Given the description of an element on the screen output the (x, y) to click on. 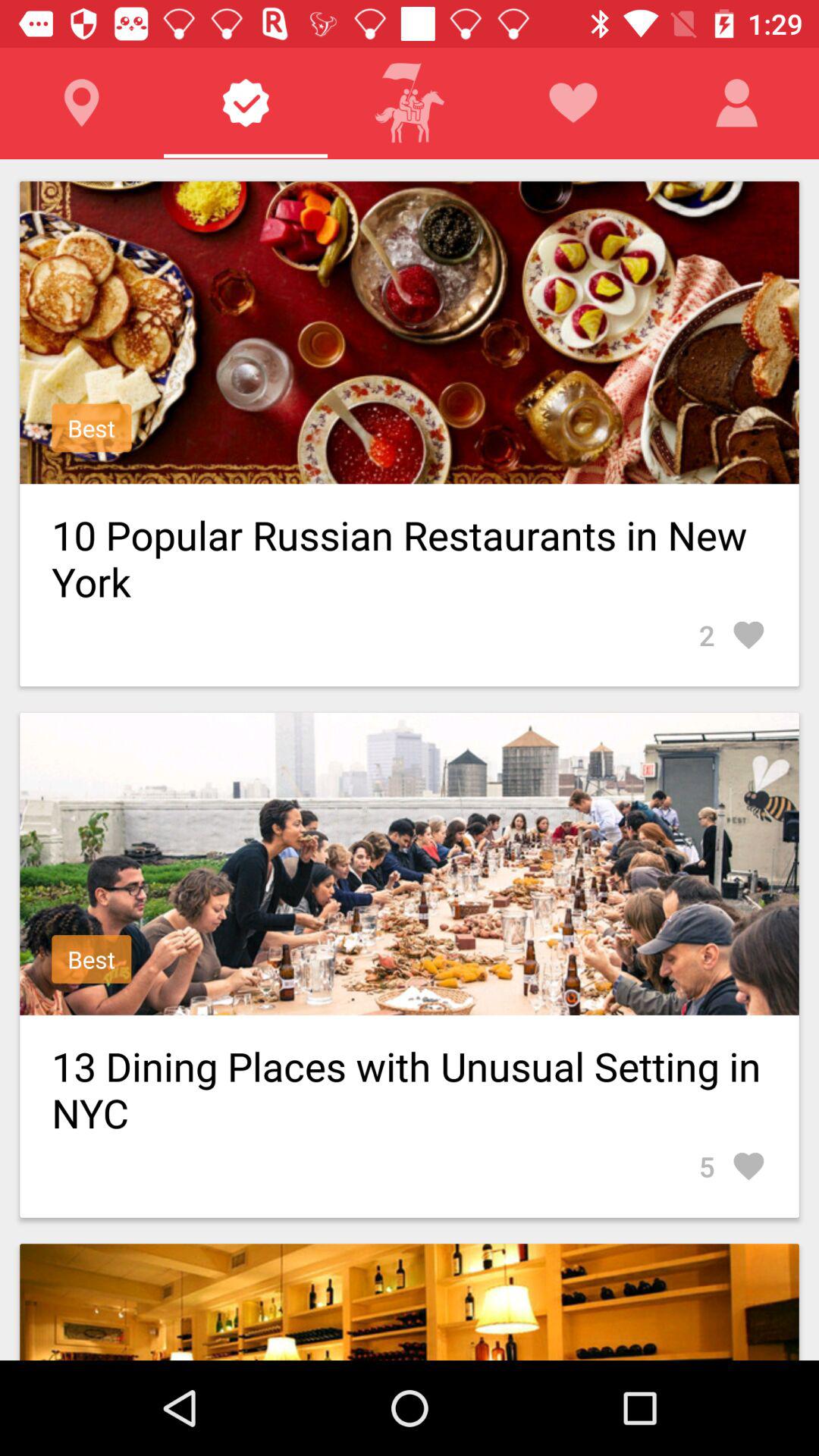
choose icon below 10 popular russian item (732, 635)
